Given the description of an element on the screen output the (x, y) to click on. 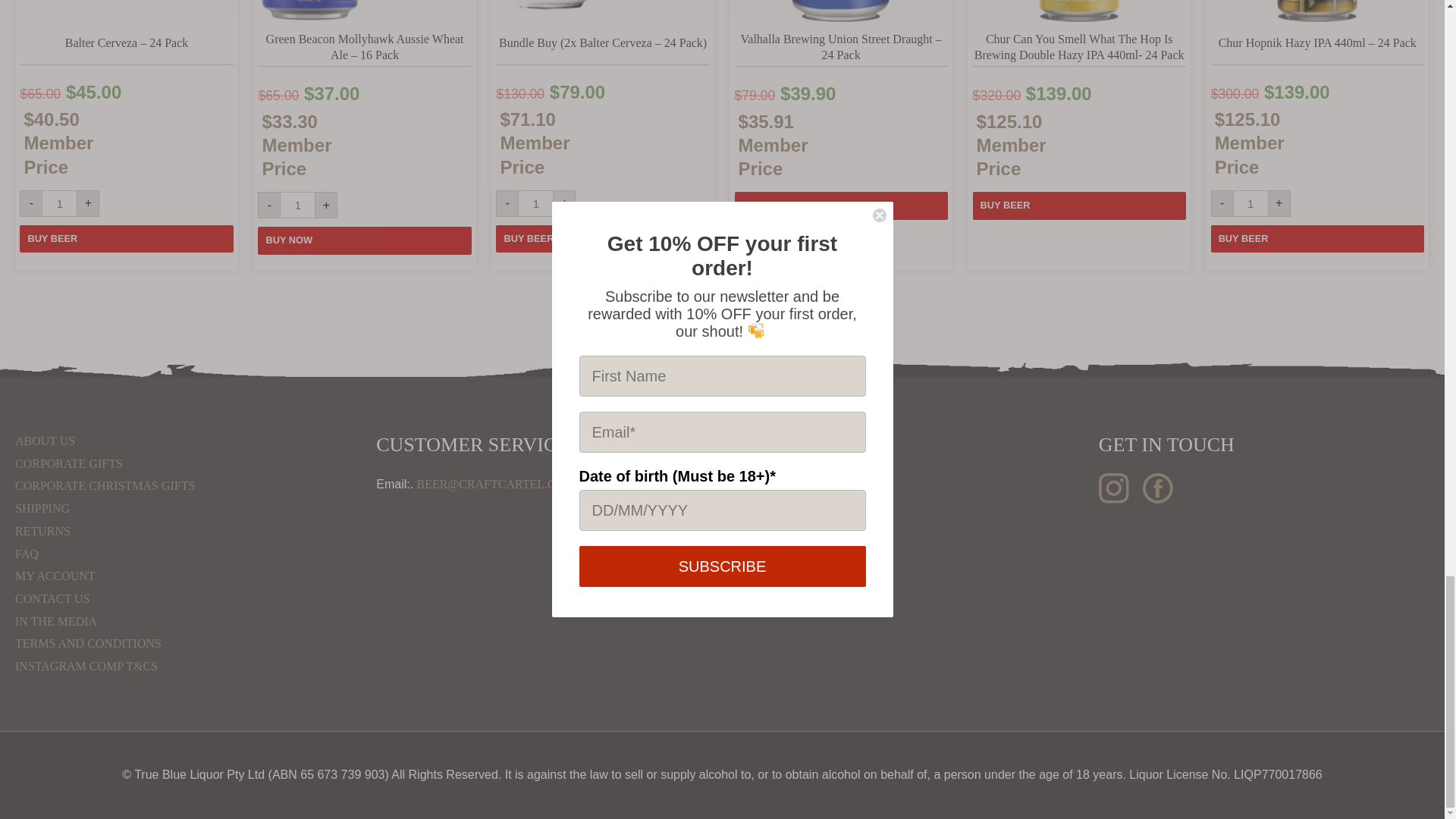
1 (535, 203)
Qty (1250, 203)
Qty (535, 203)
1 (59, 203)
Qty (297, 204)
1 (1250, 203)
1 (297, 204)
Qty (59, 203)
